Given the description of an element on the screen output the (x, y) to click on. 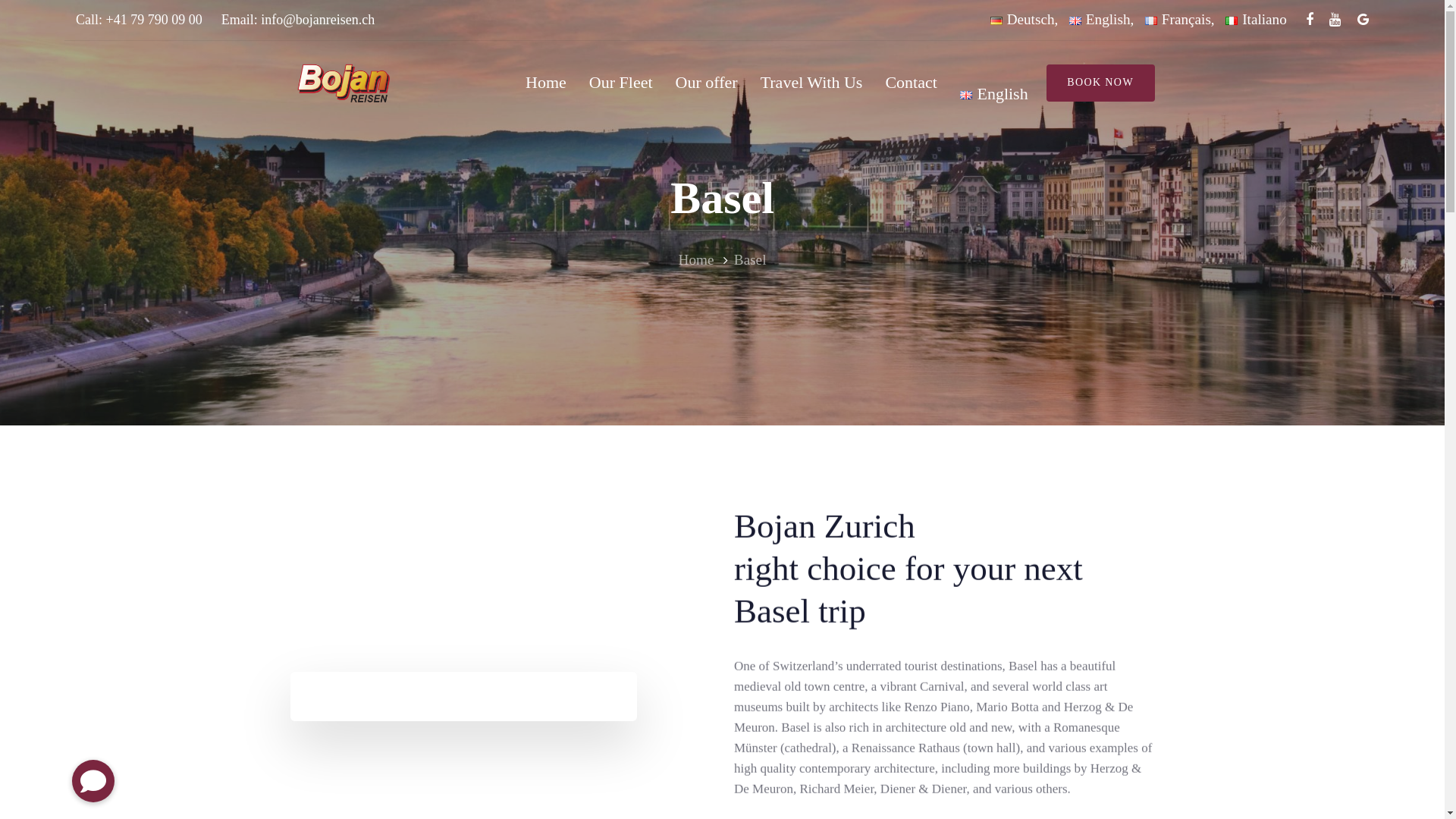
Home Element type: text (696, 259)
Contact Element type: text (910, 82)
Our Fleet Element type: text (620, 82)
Deutsch Element type: text (1022, 19)
English Element type: text (987, 82)
Italiano Element type: text (1255, 19)
BOOK NOW Element type: text (1100, 82)
+41 79 790 09 00 Element type: text (154, 19)
Travel With Us Element type: text (811, 82)
English Element type: text (1099, 19)
Home Element type: text (545, 82)
Our offer Element type: text (706, 82)
info@bojanreisen.ch Element type: text (317, 19)
